Given the description of an element on the screen output the (x, y) to click on. 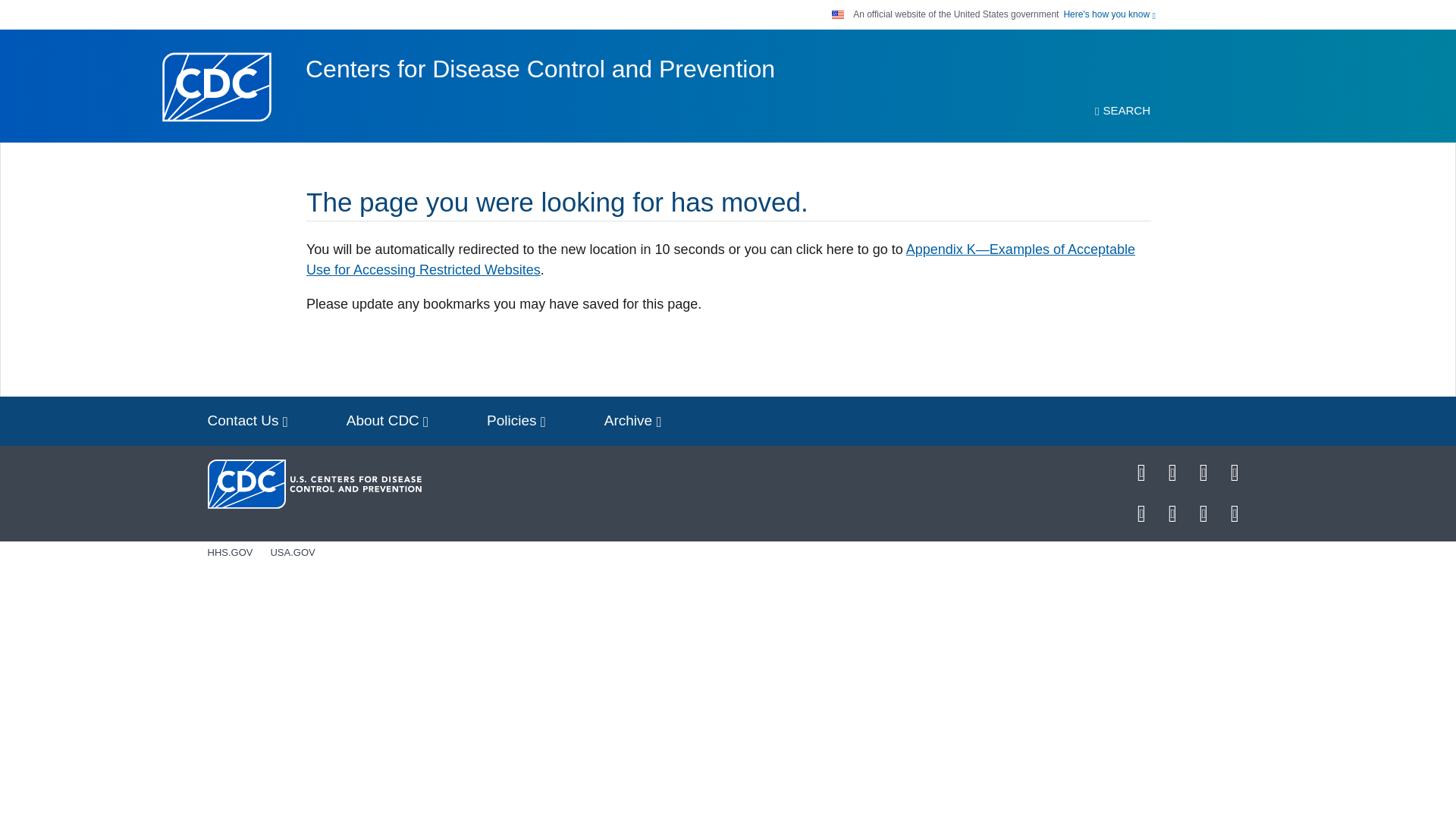
Contact Us (247, 420)
Here's how you know (1108, 14)
SEARCH (1122, 110)
Centers for Disease Control and Prevention (539, 68)
Archive (633, 420)
About CDC (387, 420)
Policies (516, 420)
